Given the description of an element on the screen output the (x, y) to click on. 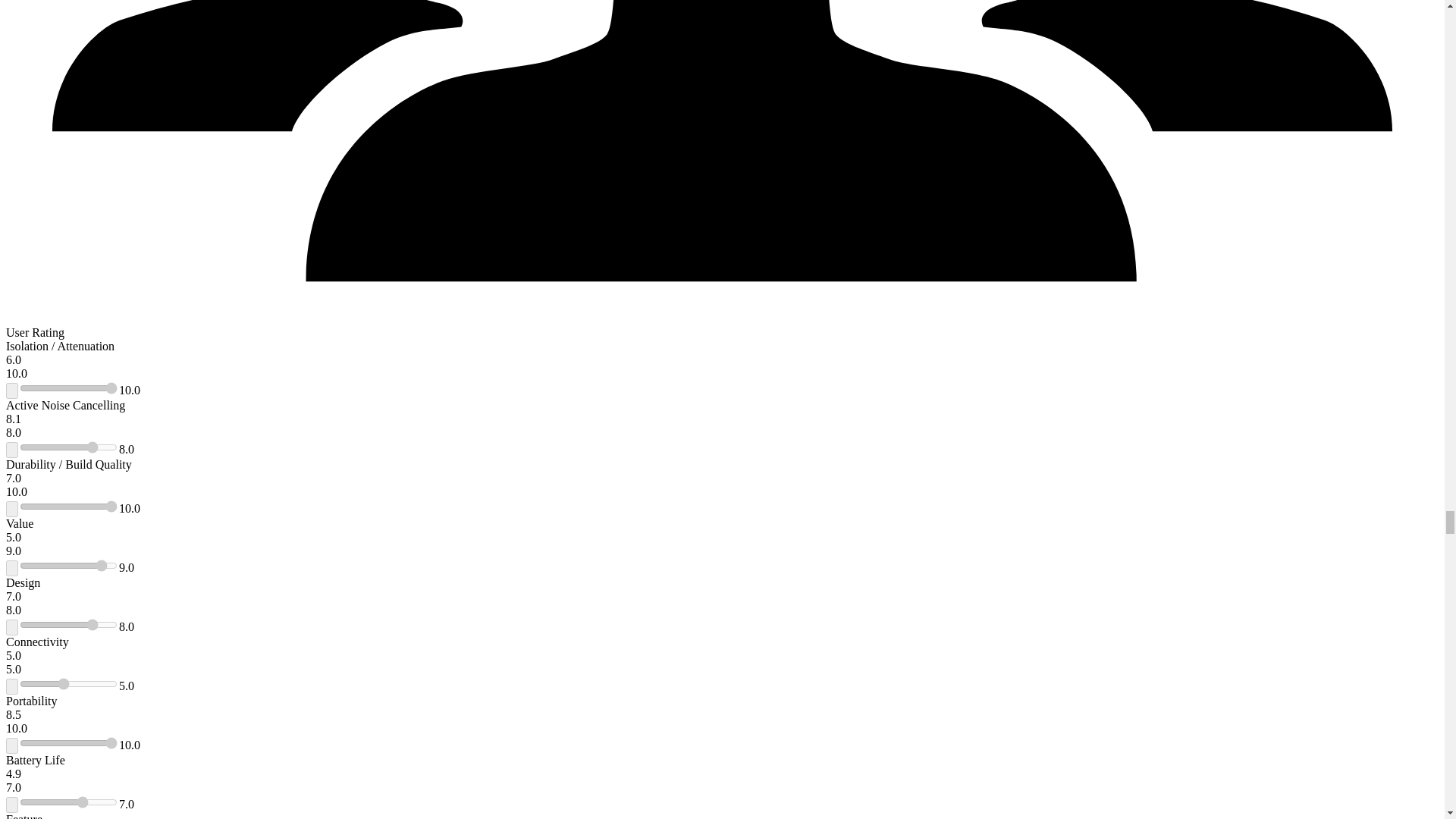
7 (68, 802)
10 (68, 506)
8 (68, 447)
5 (68, 684)
10 (68, 743)
8 (68, 624)
10 (68, 387)
9 (68, 565)
